Given the description of an element on the screen output the (x, y) to click on. 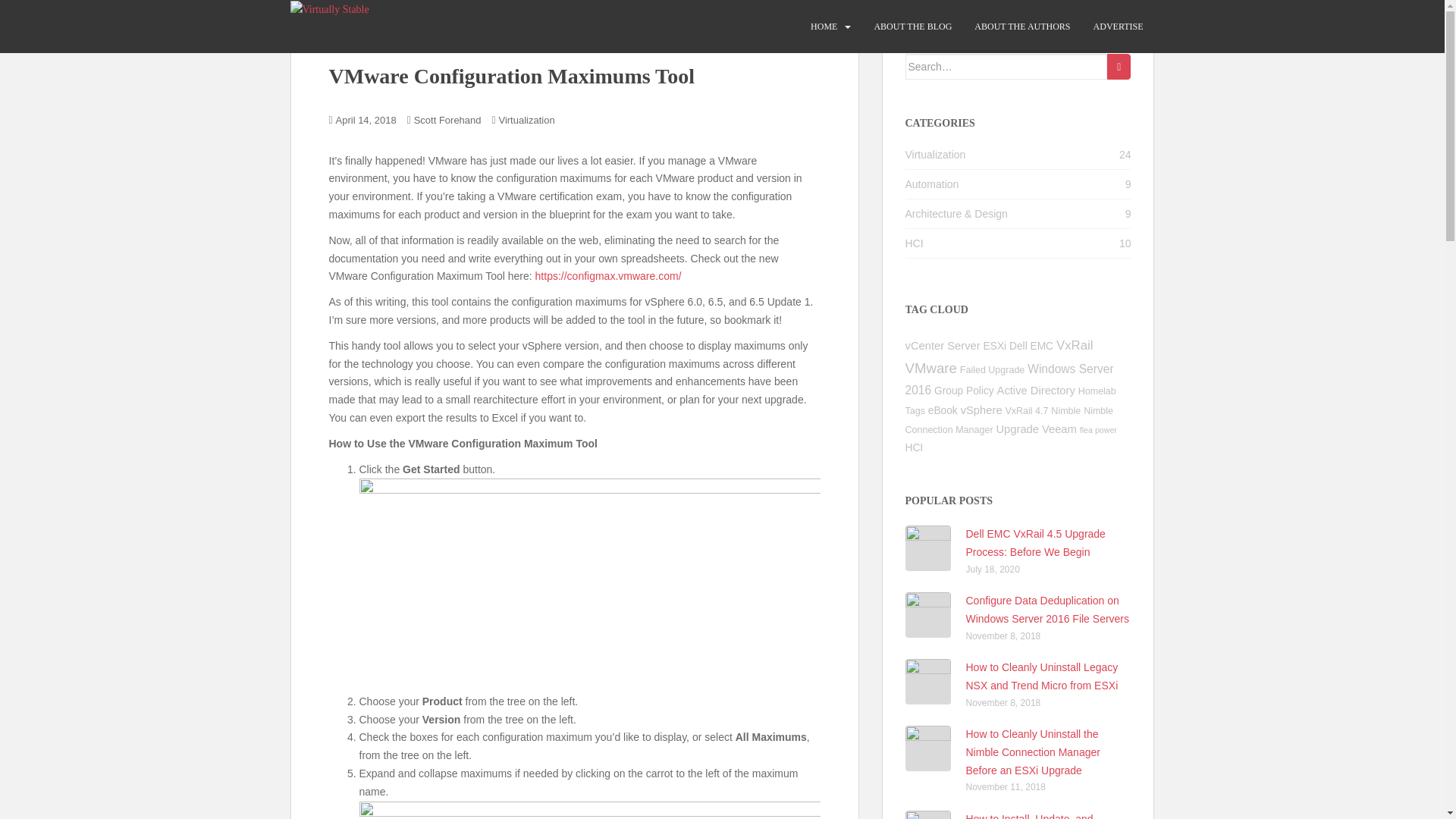
ABOUT THE AUTHORS (1022, 26)
Scott Forehand (447, 120)
Virtualization (525, 120)
ABOUT THE BLOG (912, 26)
April 14, 2018 (366, 120)
ADVERTISE (1117, 26)
